Given the description of an element on the screen output the (x, y) to click on. 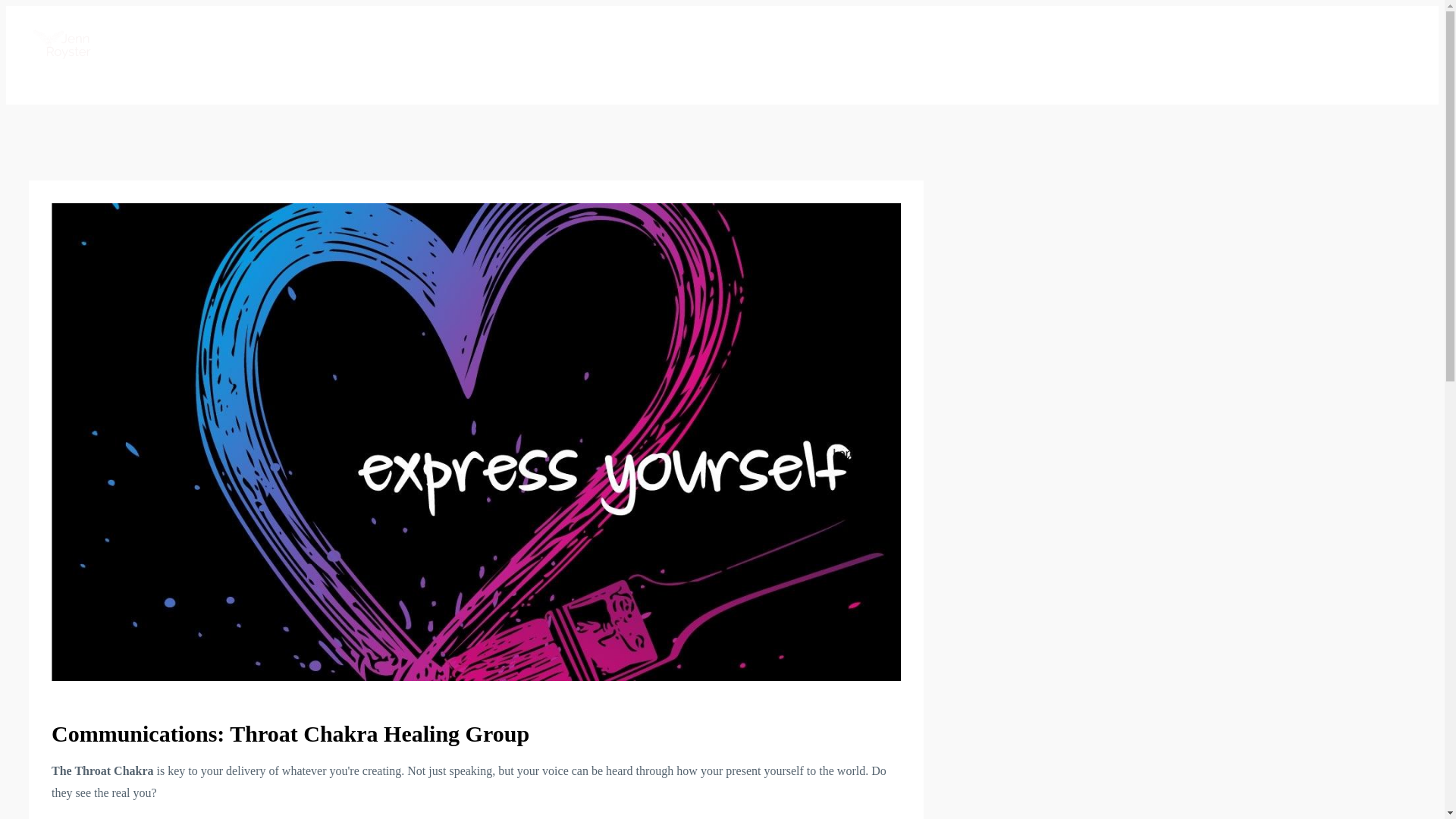
Login (900, 43)
Jenn Royster Show (625, 43)
My Library (766, 43)
Home (405, 43)
Learning Center (478, 43)
Art Gallery (839, 43)
About (705, 43)
